Given the description of an element on the screen output the (x, y) to click on. 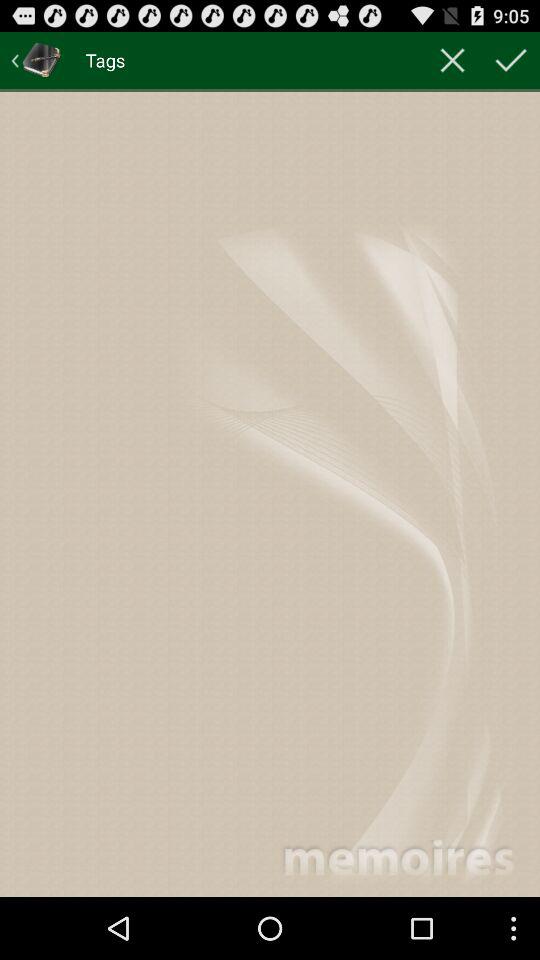
select item (511, 60)
